Given the description of an element on the screen output the (x, y) to click on. 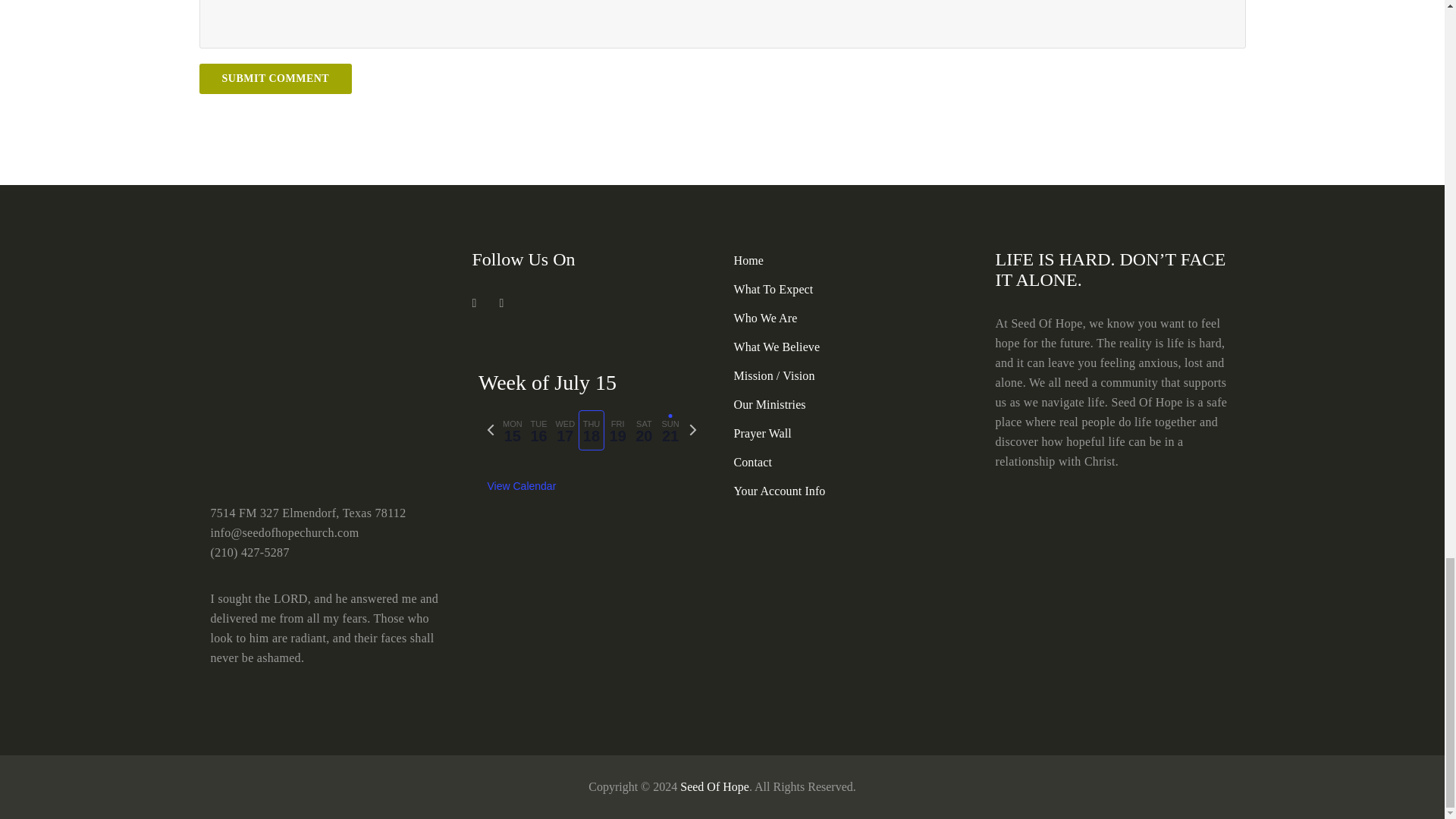
Submit Comment (275, 78)
